Given the description of an element on the screen output the (x, y) to click on. 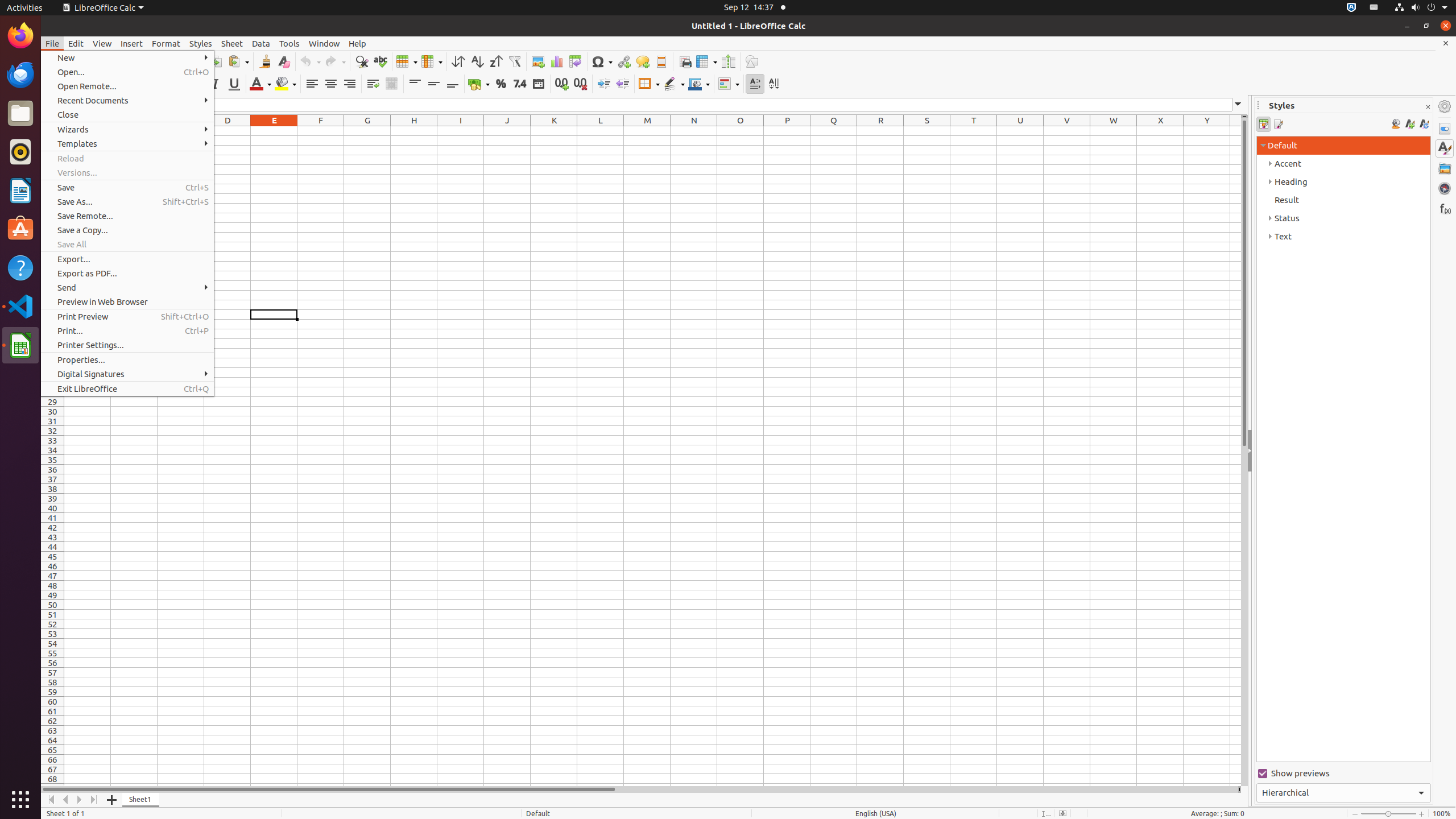
Save Element type: menu-item (126, 187)
I1 Element type: table-cell (460, 130)
Templates Element type: menu (126, 143)
Digital Signatures Element type: menu (126, 373)
Hyperlink Element type: toggle-button (623, 61)
